Given the description of an element on the screen output the (x, y) to click on. 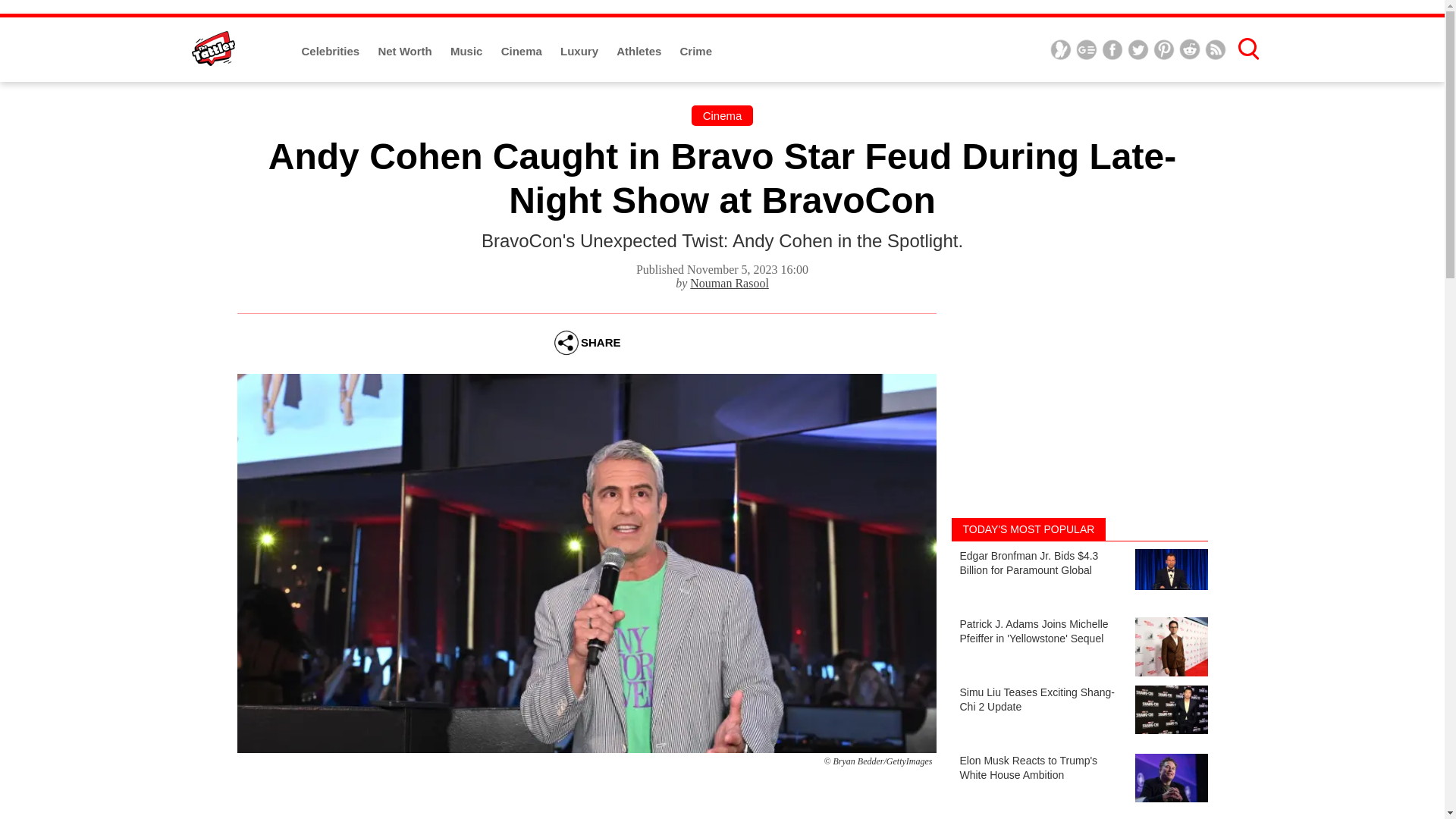
Elon Musk Reacts to Trump's White House Ambition (1078, 779)
Net Worth (406, 51)
Simu Liu Teases Exciting Shang-Chi 2 Update (1078, 711)
Luxury (580, 51)
Cinema (722, 115)
Nouman Rasool (729, 282)
Music (467, 51)
Cinema (522, 51)
Crime (696, 51)
